Given the description of an element on the screen output the (x, y) to click on. 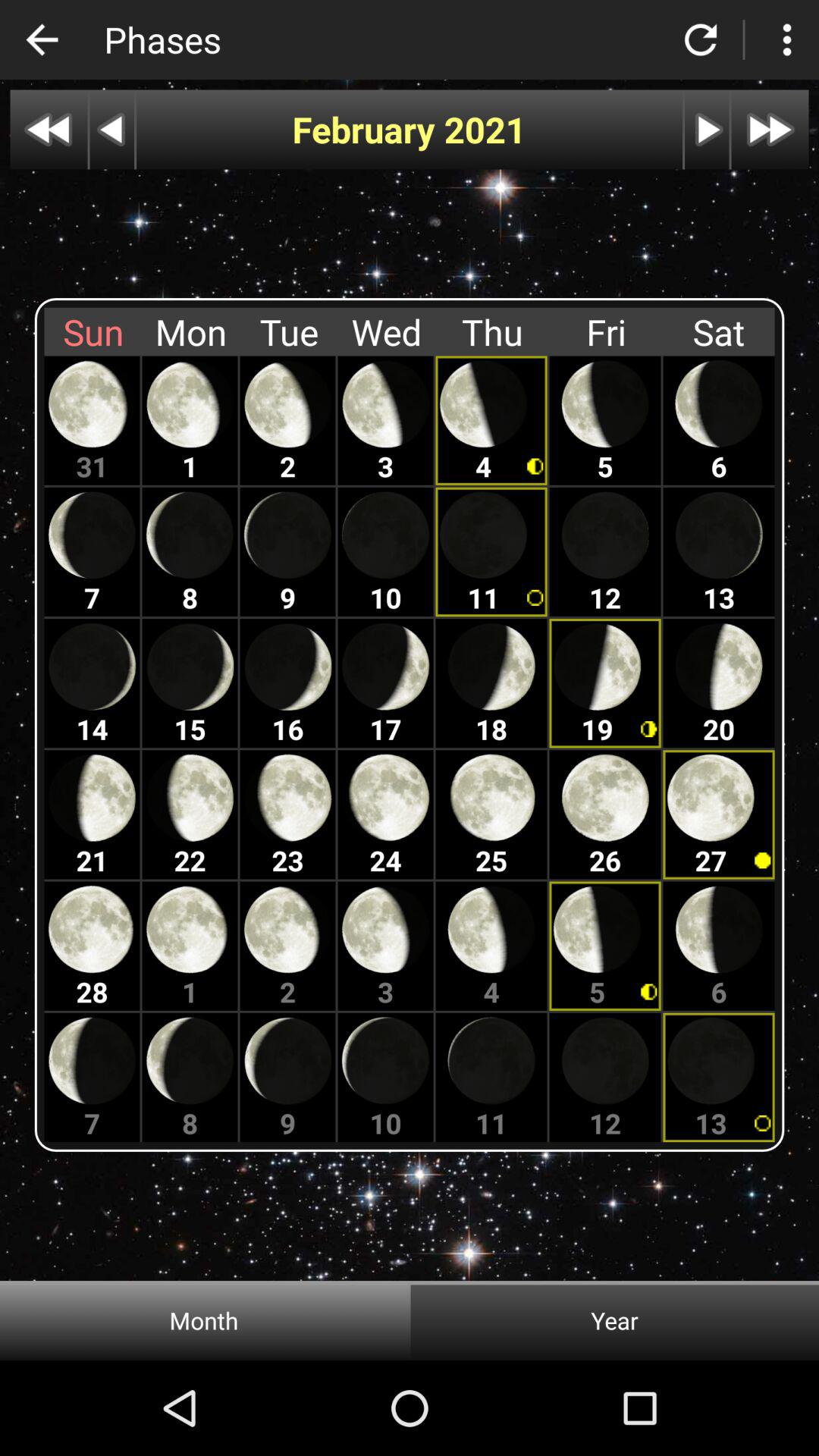
go forward (769, 129)
